Given the description of an element on the screen output the (x, y) to click on. 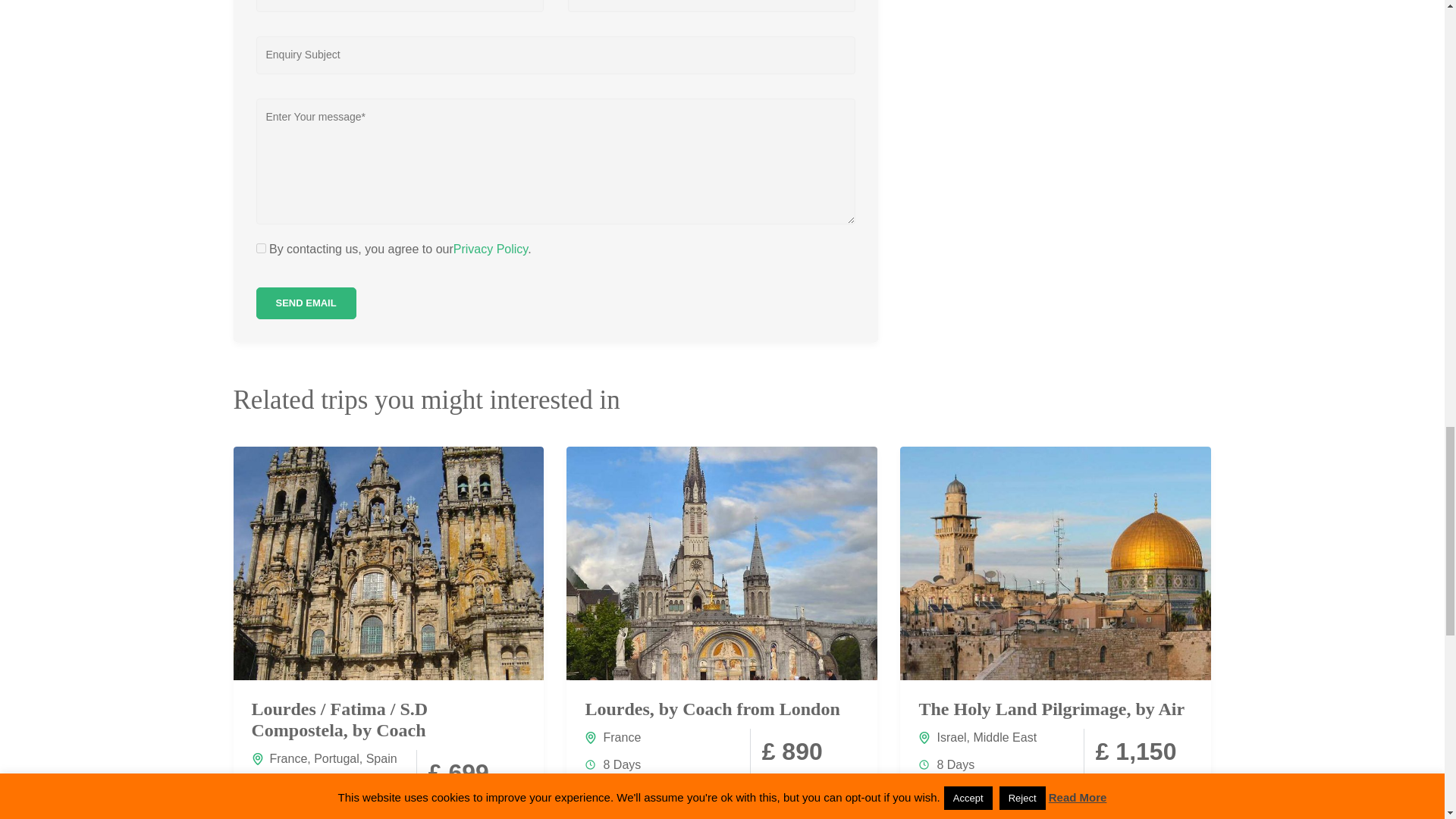
on (261, 248)
Send Email (306, 303)
Send Email (306, 303)
Privacy Policy (489, 248)
